Given the description of an element on the screen output the (x, y) to click on. 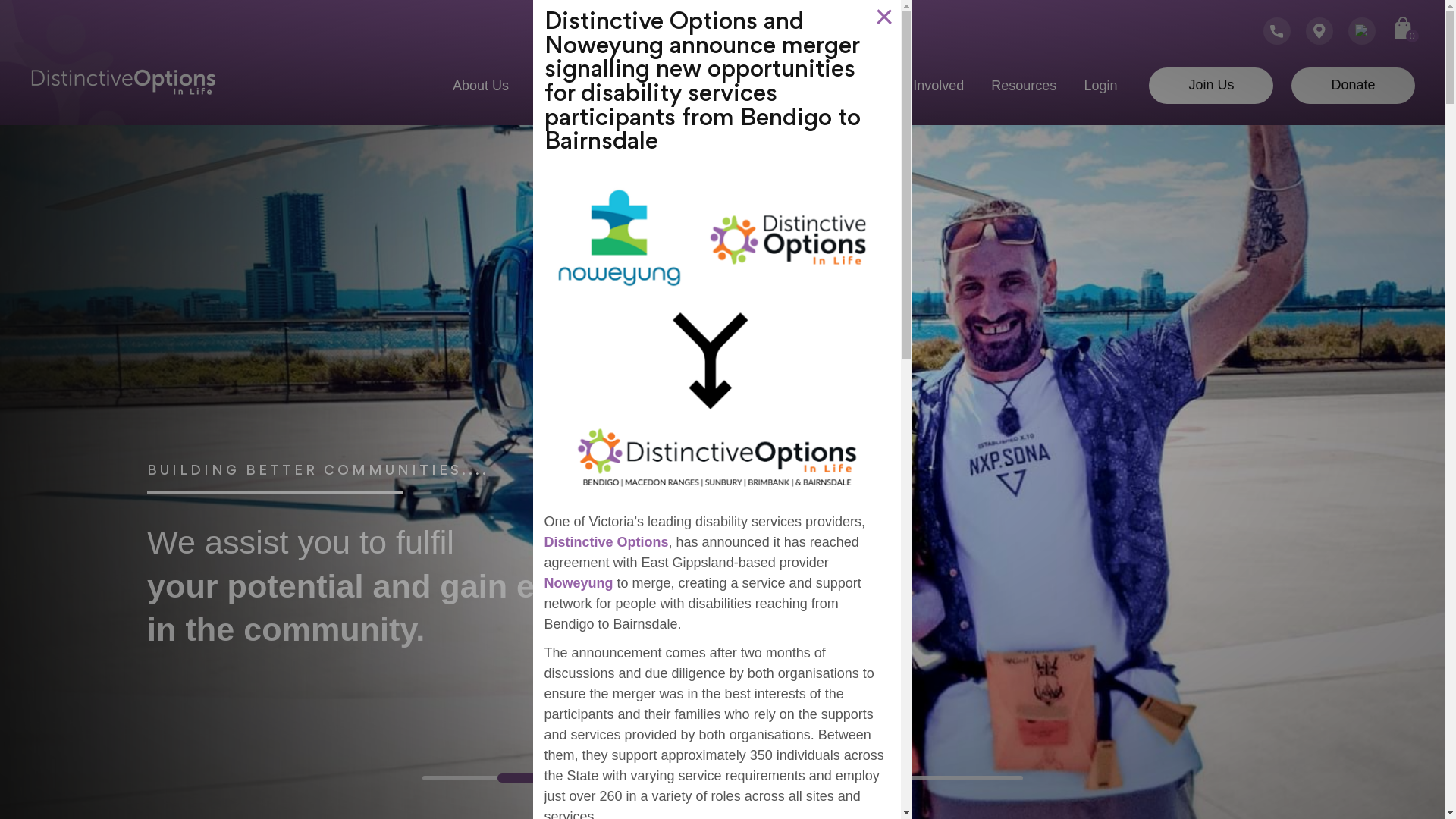
About Us Element type: text (480, 85)
Resources Element type: text (1023, 85)
Our Services Element type: text (660, 85)
Noweyung Element type: text (578, 582)
Get Involved Element type: text (925, 85)
Login Element type: text (1100, 85)
0 Element type: text (1402, 27)
Distinctive Options Element type: text (606, 541)
My Goals Element type: text (564, 85)
Join Us Element type: text (1210, 85)
A Story Every Second Element type: text (793, 85)
Donate Element type: text (1352, 85)
